Given the description of an element on the screen output the (x, y) to click on. 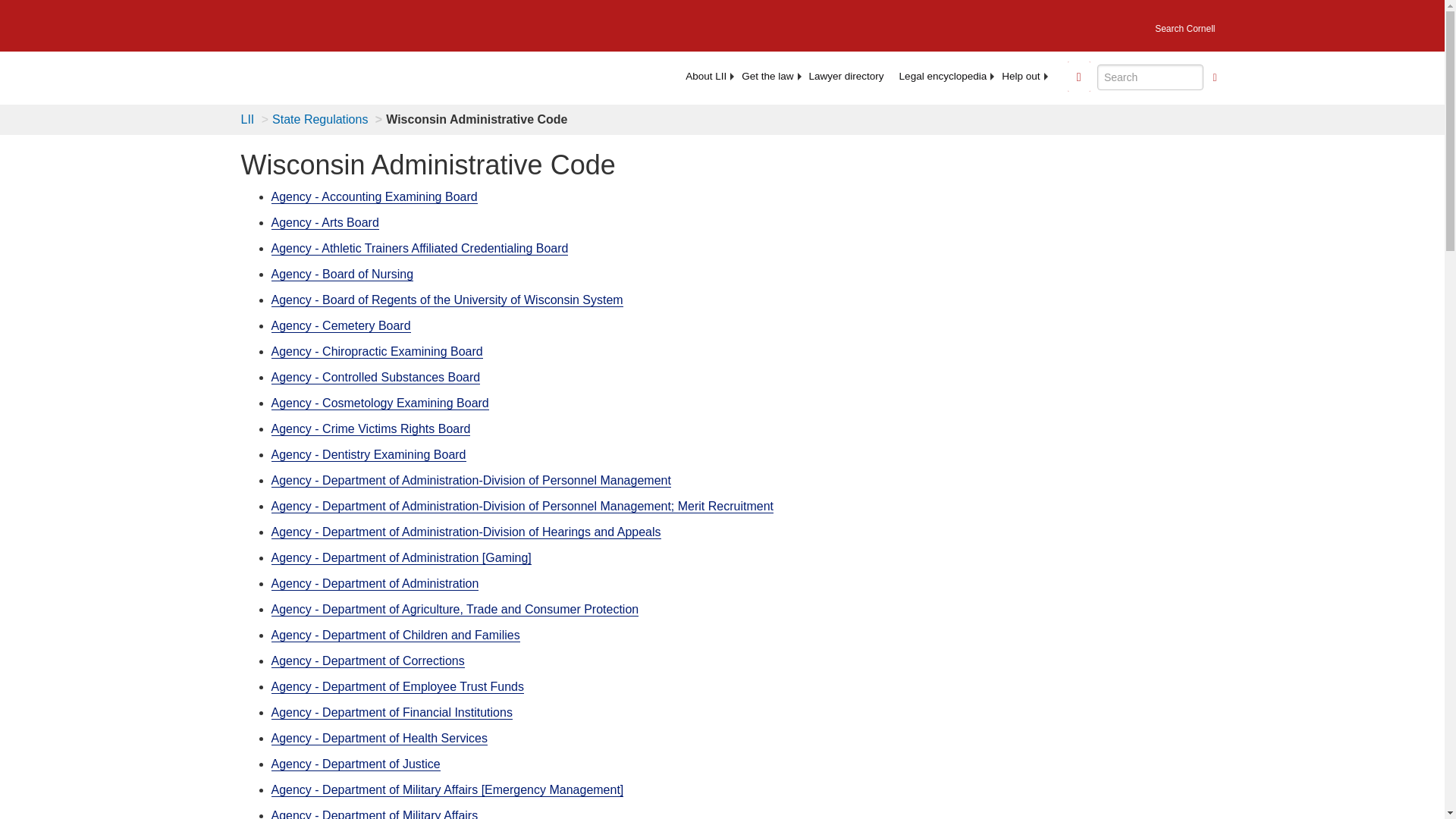
Cornell University (249, 23)
Cornell Law School (348, 23)
Agency (446, 300)
Cornell Law School (348, 23)
Legal encyclopedia (942, 76)
About LII (705, 76)
Agency (376, 351)
Lawyer directory (846, 76)
Search Cornell (1184, 24)
Agency (375, 377)
